Given the description of an element on the screen output the (x, y) to click on. 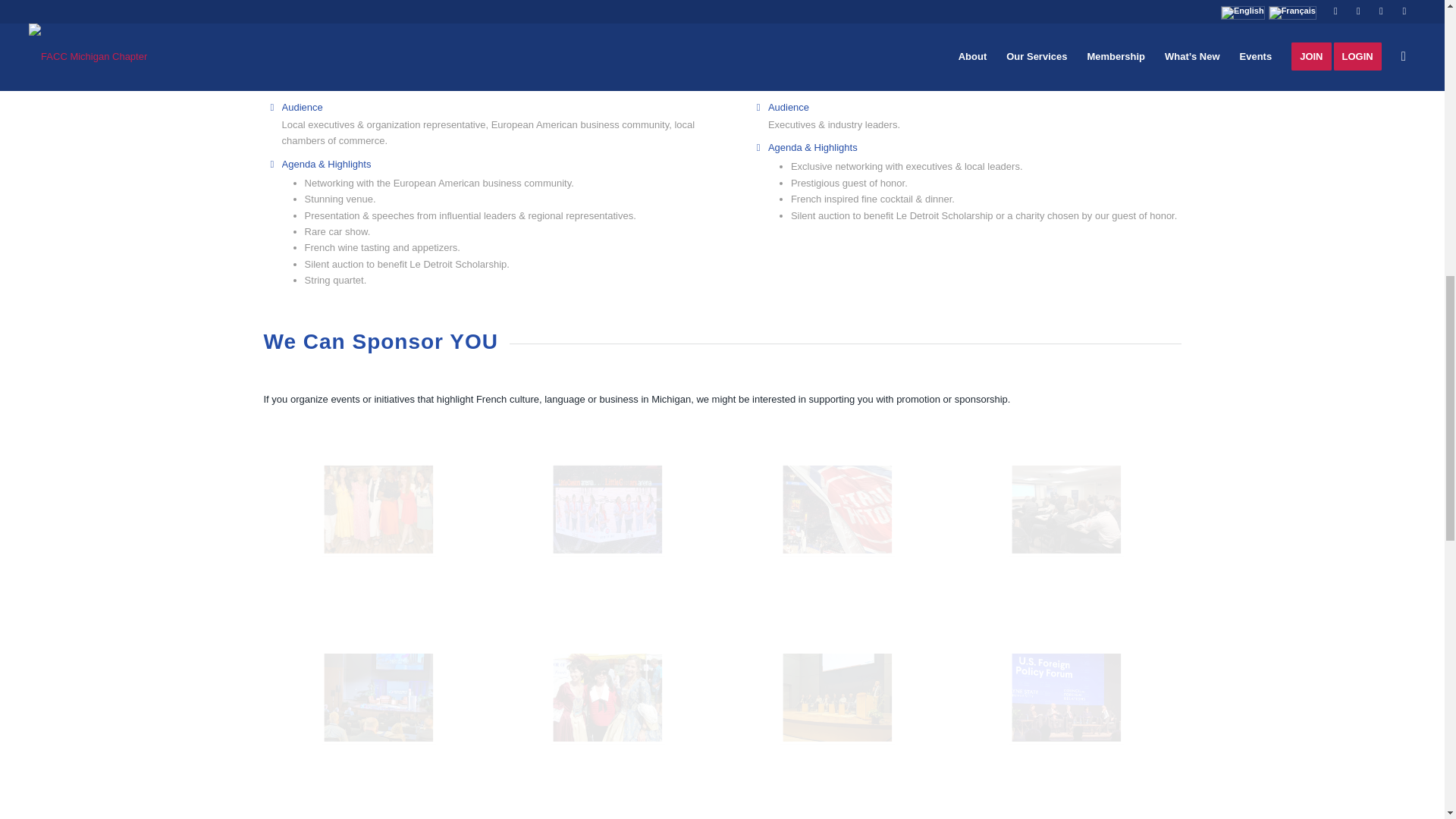
French Heritage Night (837, 509)
Fete de la Bastille (378, 509)
French Heritage Night (665, 556)
Fete de la Bastille (435, 556)
French Heritage Night (607, 509)
